Given the description of an element on the screen output the (x, y) to click on. 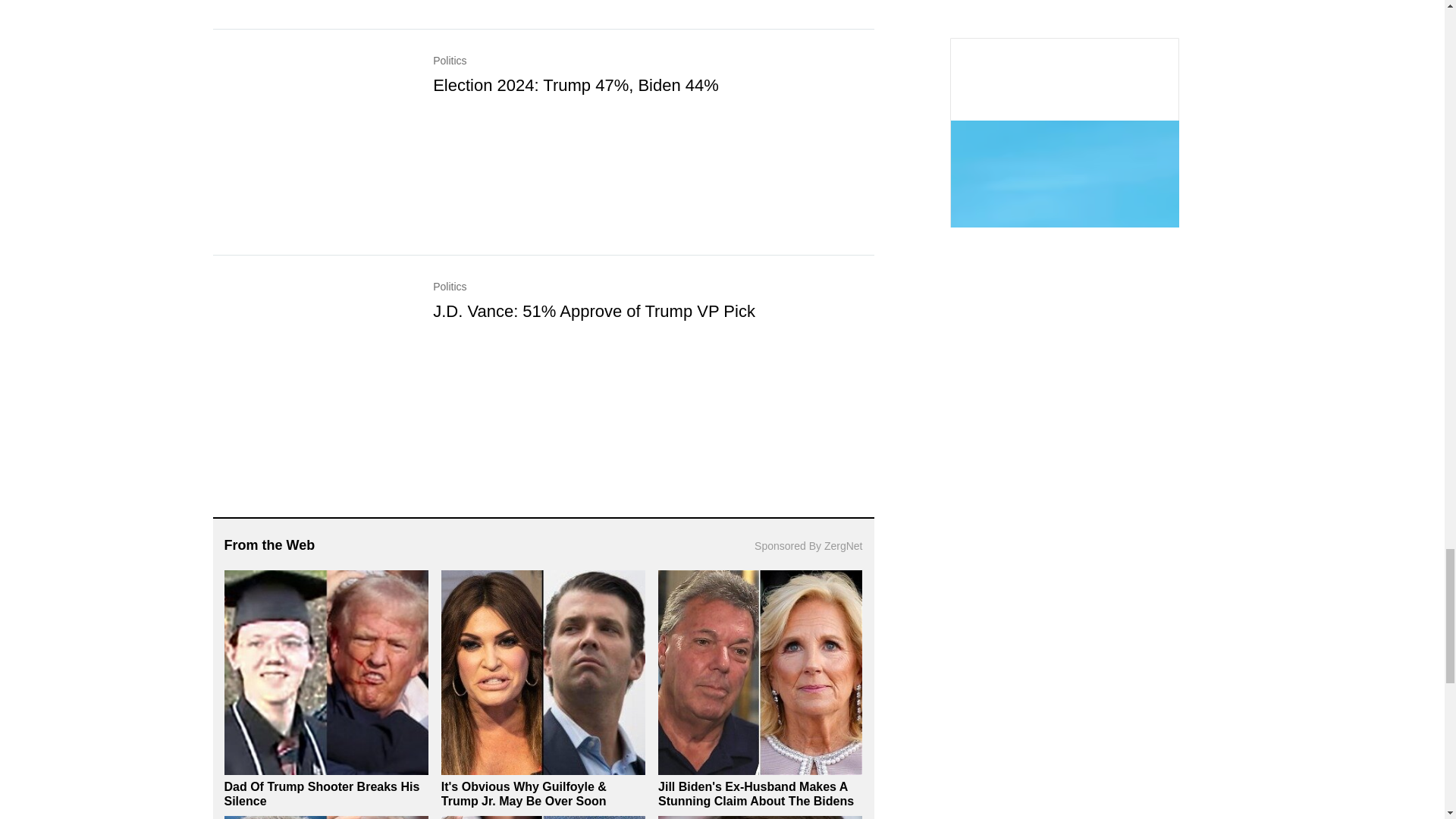
Politics (652, 74)
Sponsored By ZergNet (807, 545)
Politics (652, 300)
Dad Of Trump Shooter Breaks His Silence (322, 793)
